Given the description of an element on the screen output the (x, y) to click on. 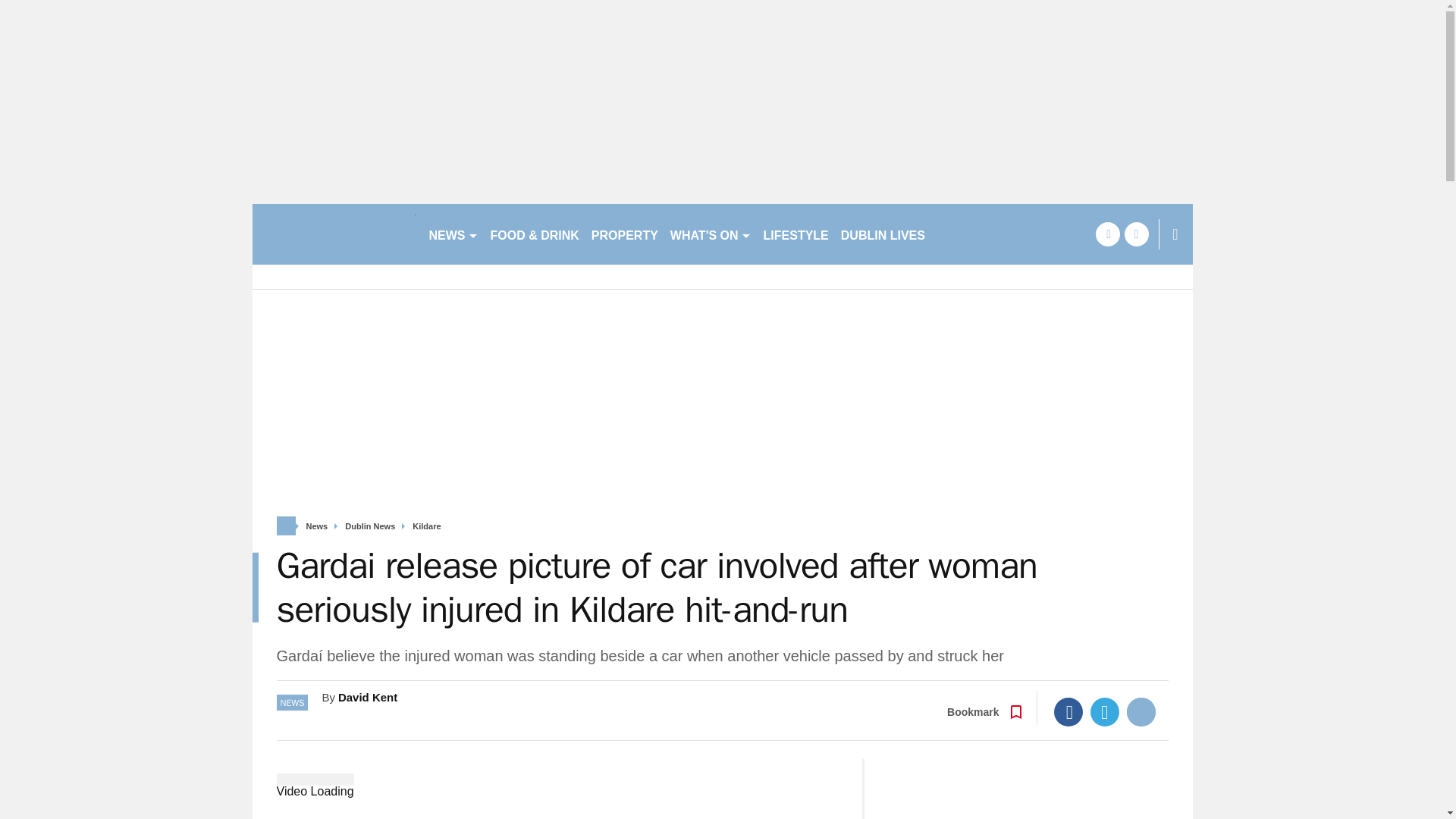
SOCCER (962, 233)
twitter (1136, 233)
WHAT'S ON (710, 233)
DUBLIN LIVES (882, 233)
facebook (1106, 233)
NEWS (453, 233)
Twitter (1104, 711)
PROPERTY (624, 233)
dublinlive (332, 233)
Facebook (1068, 711)
